Given the description of an element on the screen output the (x, y) to click on. 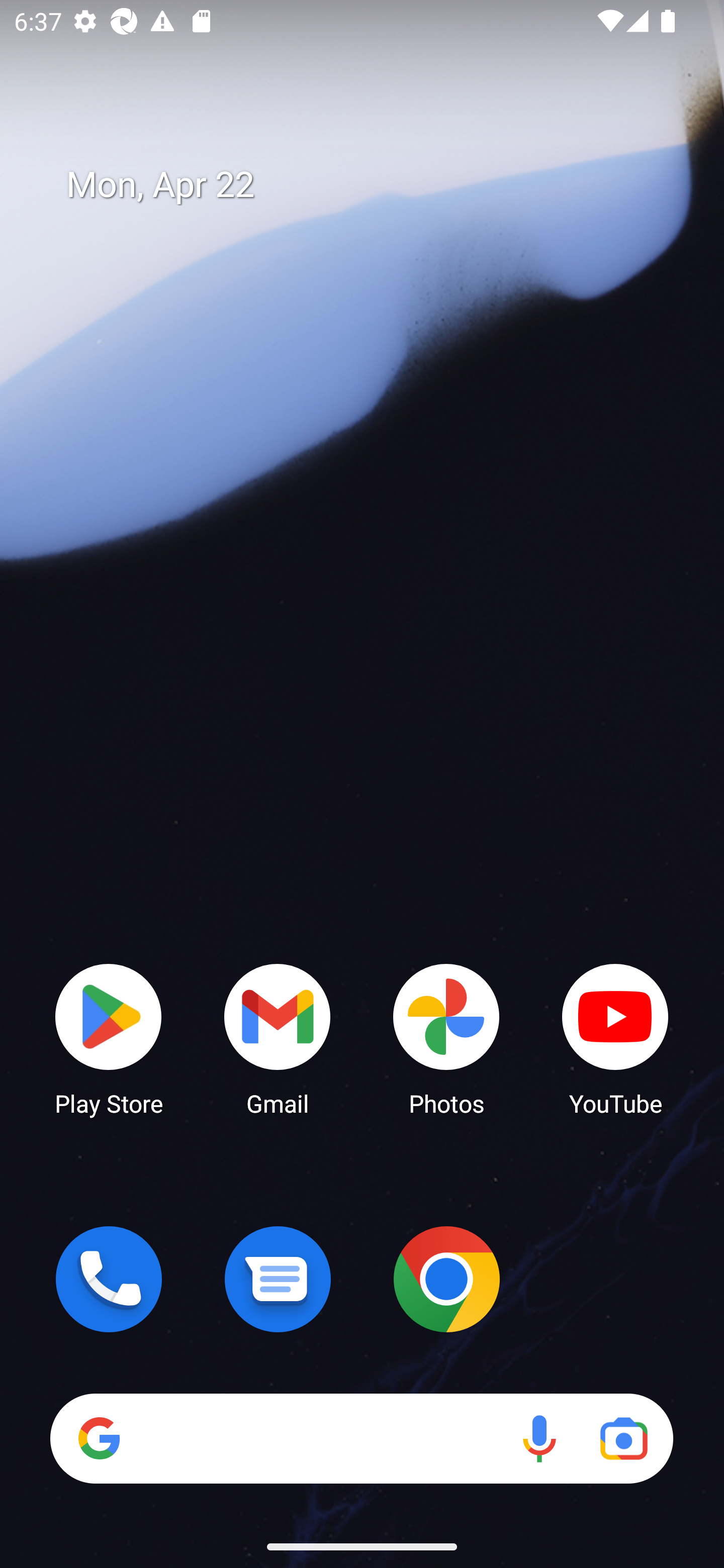
Mon, Apr 22 (375, 184)
Play Store (108, 1038)
Gmail (277, 1038)
Photos (445, 1038)
YouTube (615, 1038)
Phone (108, 1279)
Messages (277, 1279)
Chrome (446, 1279)
Search Voice search Google Lens (361, 1438)
Voice search (539, 1438)
Google Lens (623, 1438)
